Given the description of an element on the screen output the (x, y) to click on. 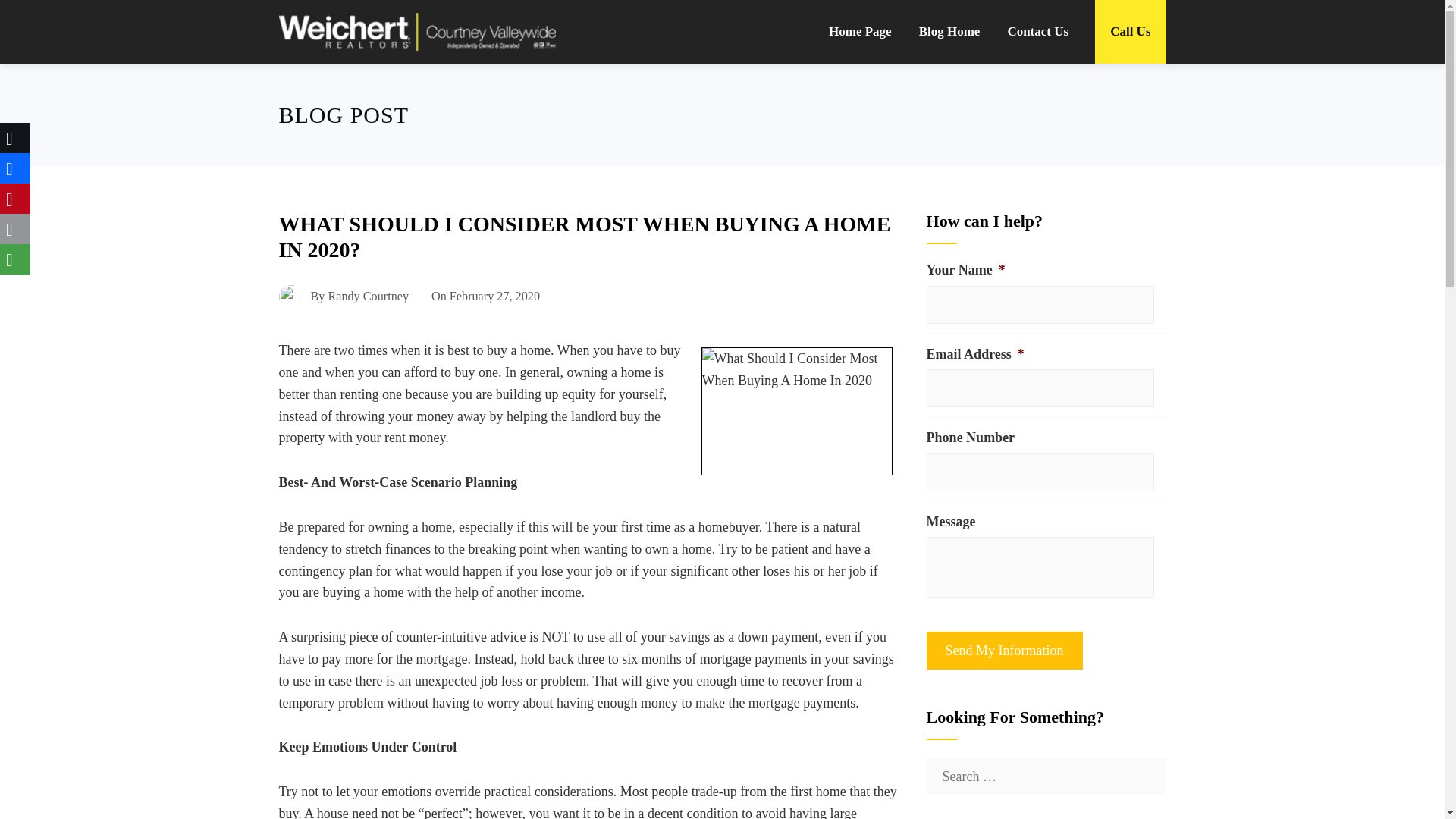
Call Us (1130, 31)
Send My Information (1004, 650)
Search (37, 18)
Home Page (859, 31)
Pinterest (15, 198)
Facebook (15, 168)
Email This (15, 228)
Send My Information (1004, 650)
Blog Home (949, 31)
More Options (15, 259)
Contact Us (1037, 31)
